Given the description of an element on the screen output the (x, y) to click on. 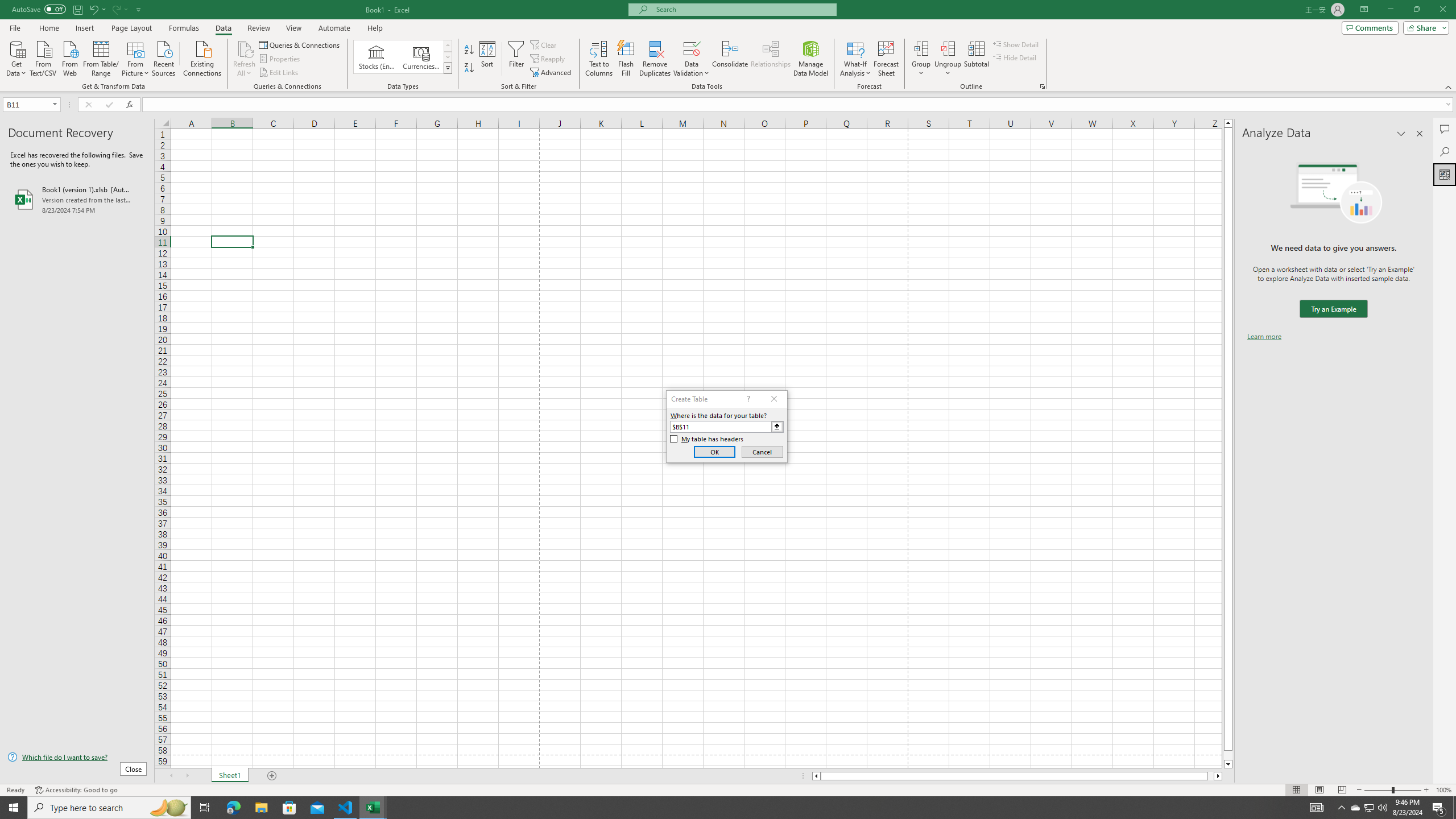
From Picture (135, 57)
Recent Sources (163, 57)
From Text/CSV (43, 57)
Group... (921, 48)
Reapply (548, 58)
Row up (448, 45)
Properties (280, 58)
Which file do I want to save? (77, 757)
